Given the description of an element on the screen output the (x, y) to click on. 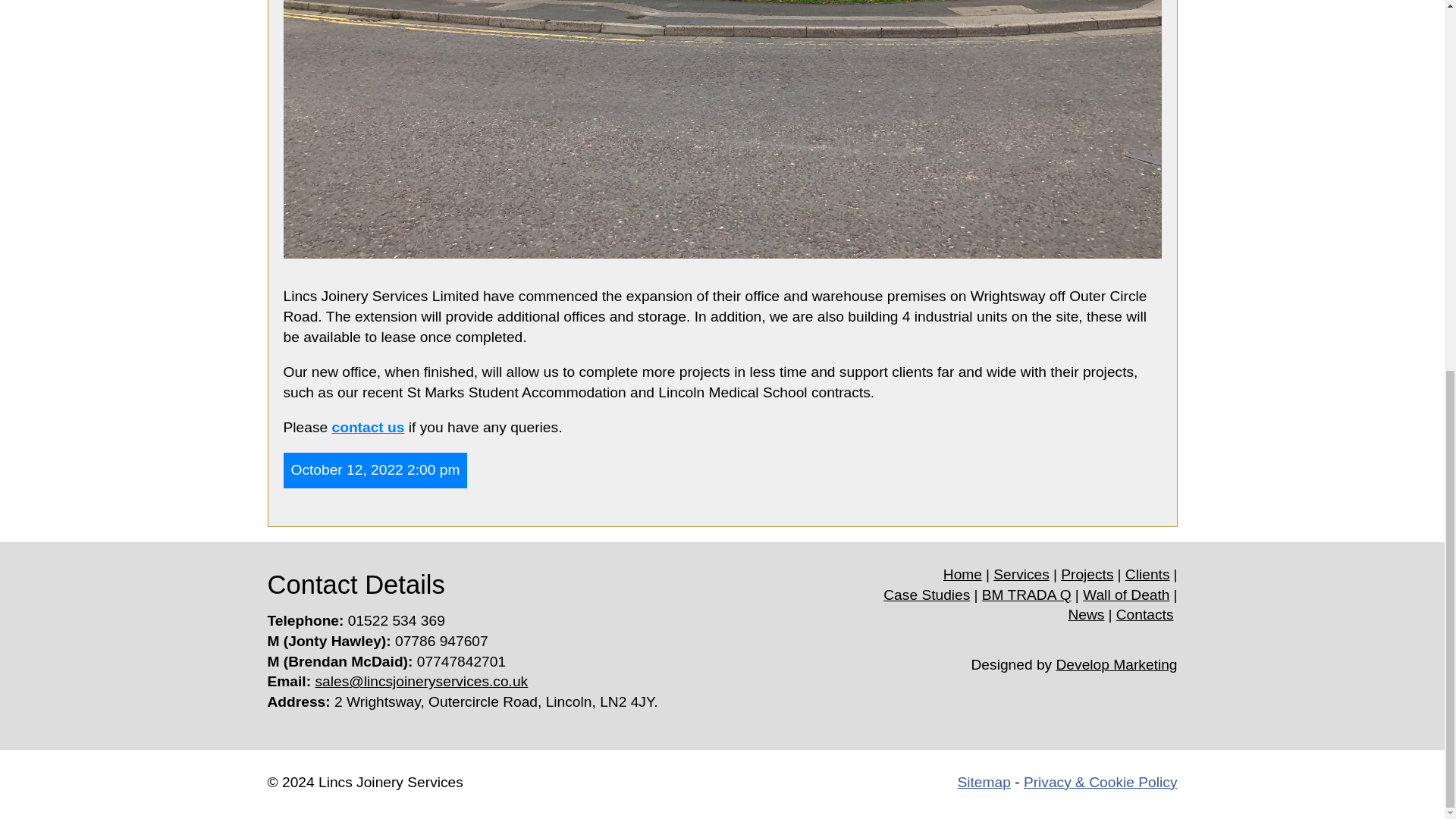
Projects (1087, 574)
Wall of Death (1126, 595)
contact us (367, 426)
BM TRADA Q (1026, 595)
Case Studies (926, 595)
Services (1020, 574)
Clients (1147, 574)
News (1085, 614)
Develop Marketing (1117, 664)
Home (962, 574)
